Given the description of an element on the screen output the (x, y) to click on. 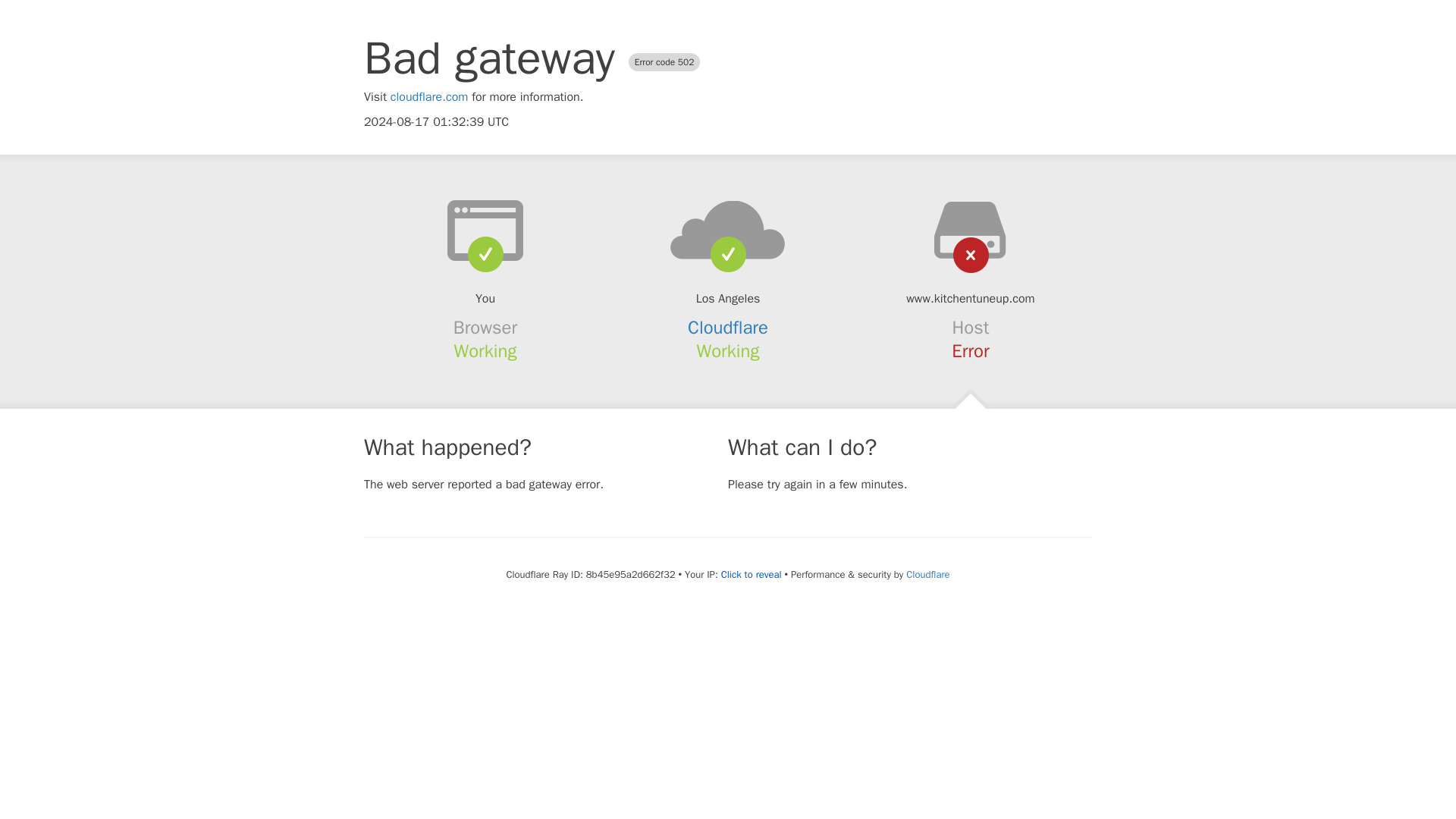
Cloudflare (727, 327)
Click to reveal (750, 574)
cloudflare.com (429, 96)
Cloudflare (927, 574)
